Given the description of an element on the screen output the (x, y) to click on. 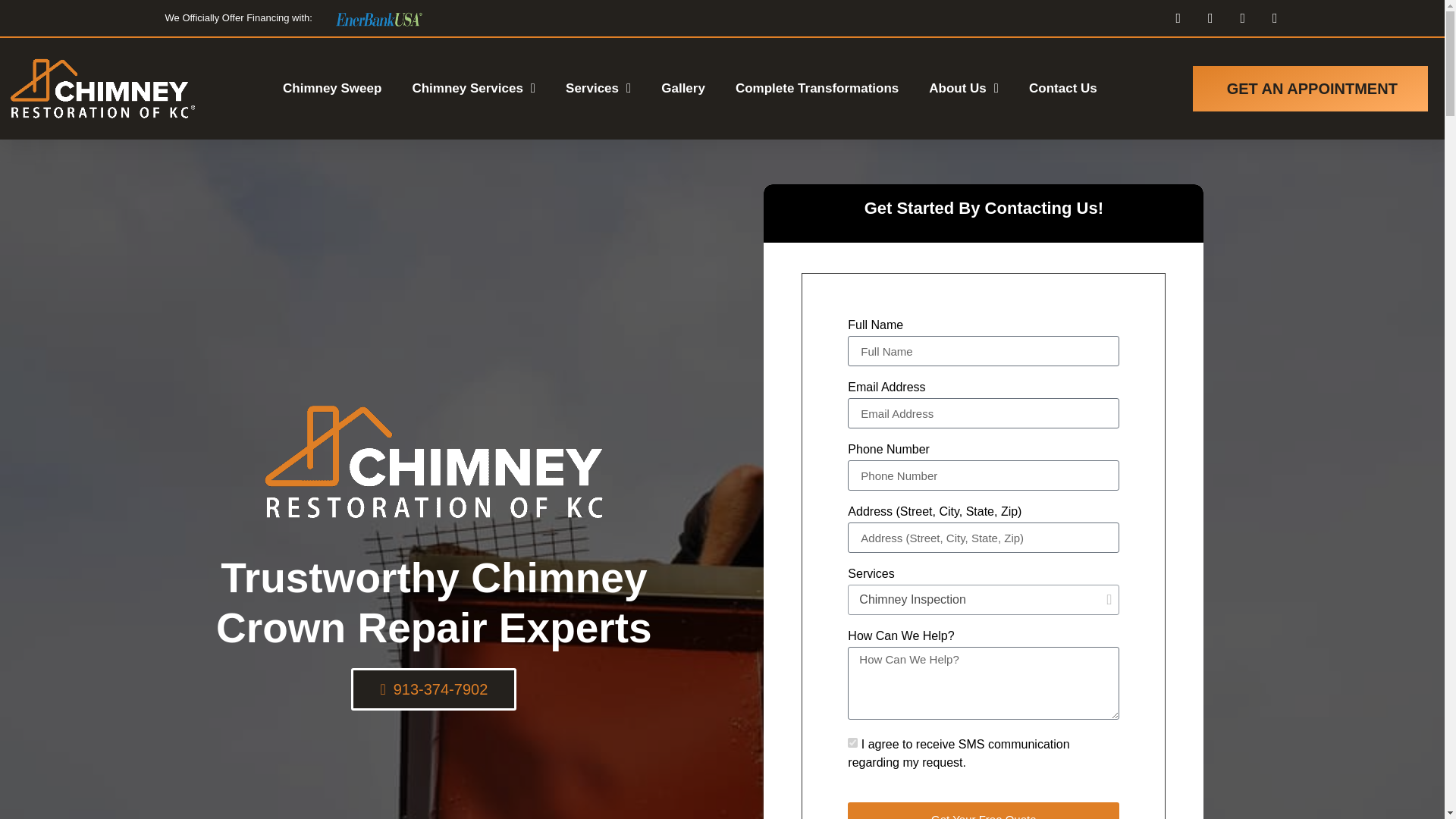
Chimney Services (473, 88)
Complete Transformations (816, 88)
Gallery (682, 88)
Chimney Sweep (331, 88)
Contact Us (1063, 88)
Services (598, 88)
About Us (963, 88)
on (852, 742)
